Given the description of an element on the screen output the (x, y) to click on. 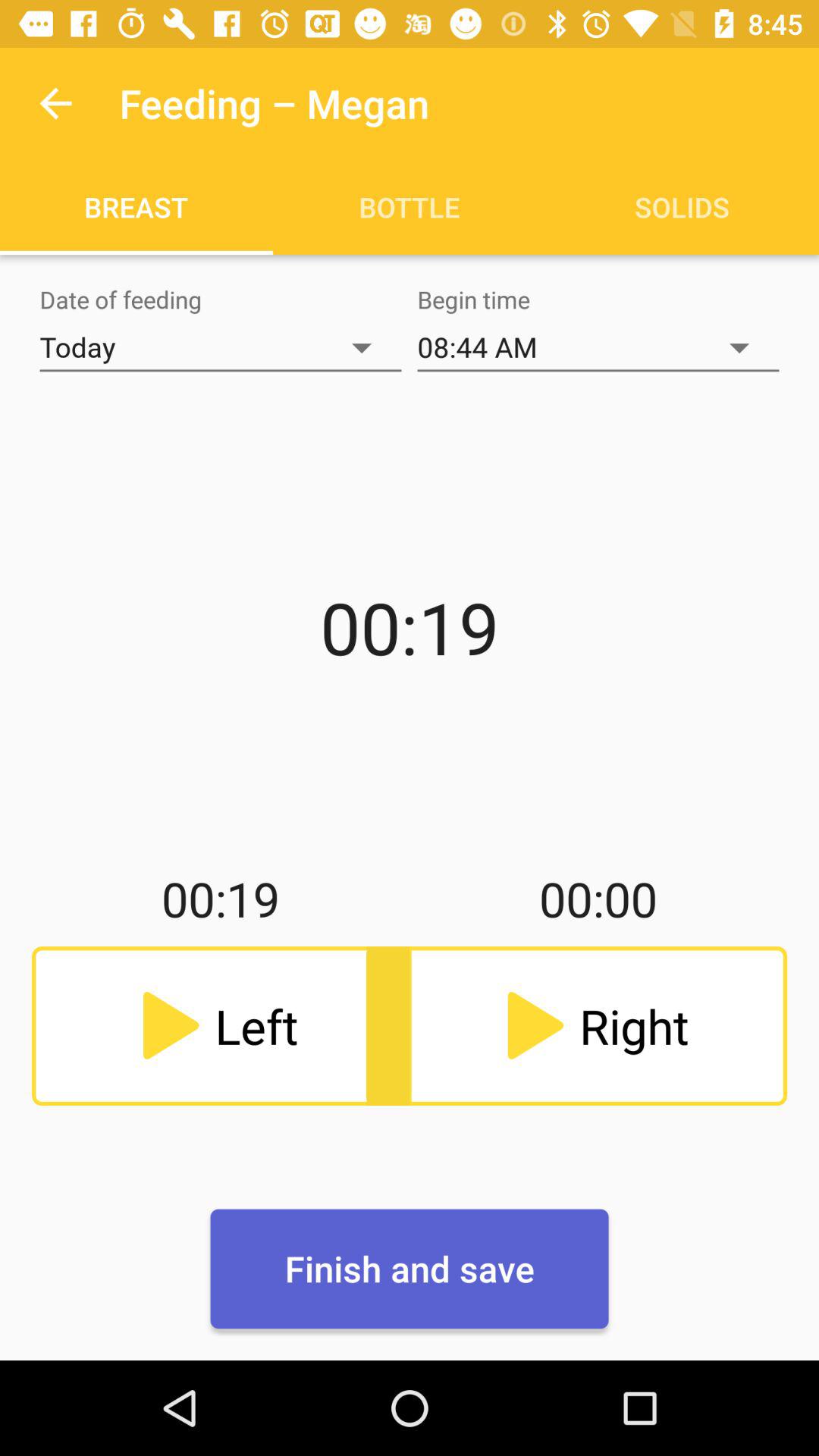
jump until finish and save item (409, 1268)
